Given the description of an element on the screen output the (x, y) to click on. 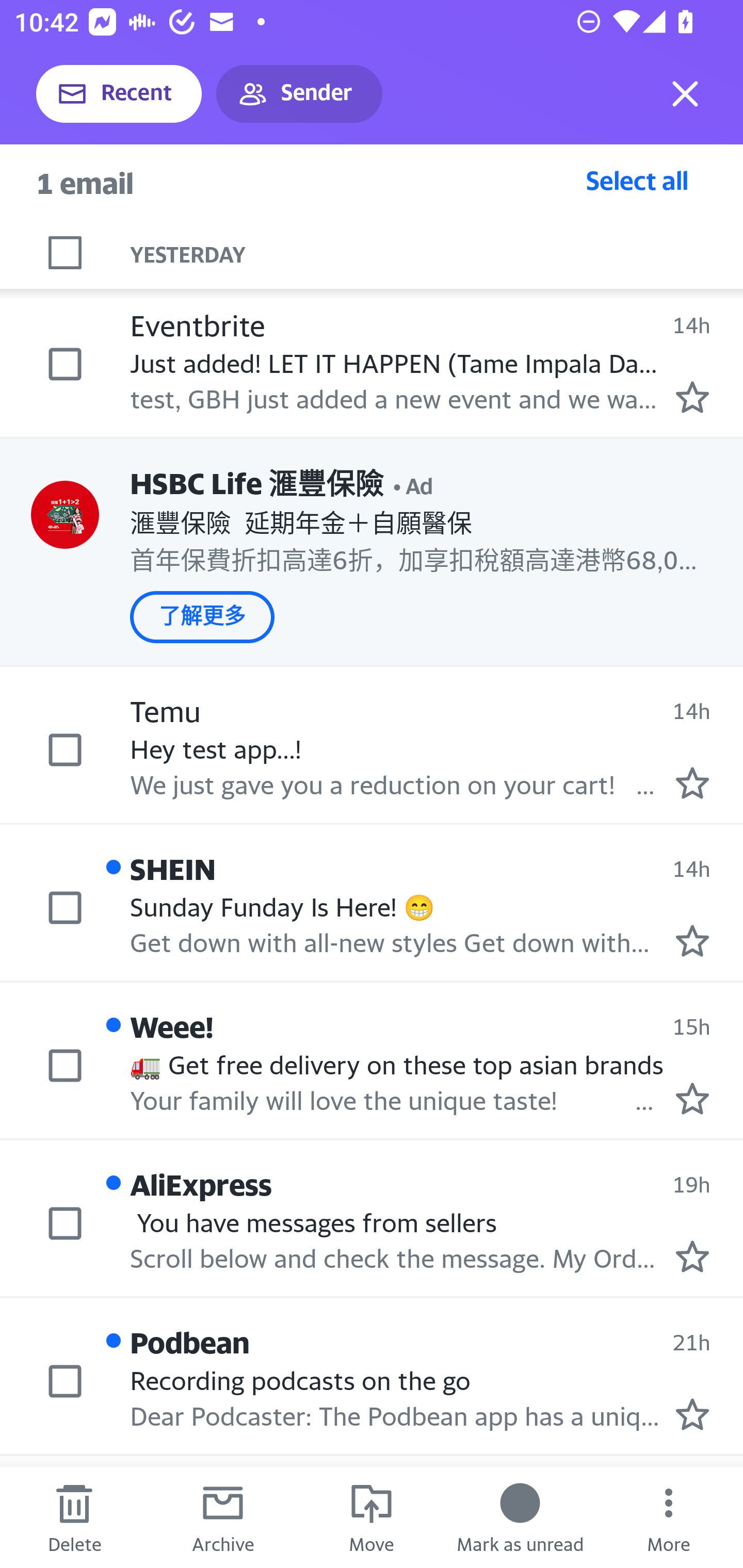
Sender (299, 93)
Exit selection mode (684, 93)
Select all (637, 180)
Mark as starred. (692, 397)
Mark as starred. (692, 783)
Mark as starred. (692, 940)
Mark as starred. (692, 1098)
Mark as starred. (692, 1256)
Mark as starred. (692, 1413)
Delete (74, 1517)
Archive (222, 1517)
Move (371, 1517)
Mark as unread (519, 1517)
More (668, 1517)
